Given the description of an element on the screen output the (x, y) to click on. 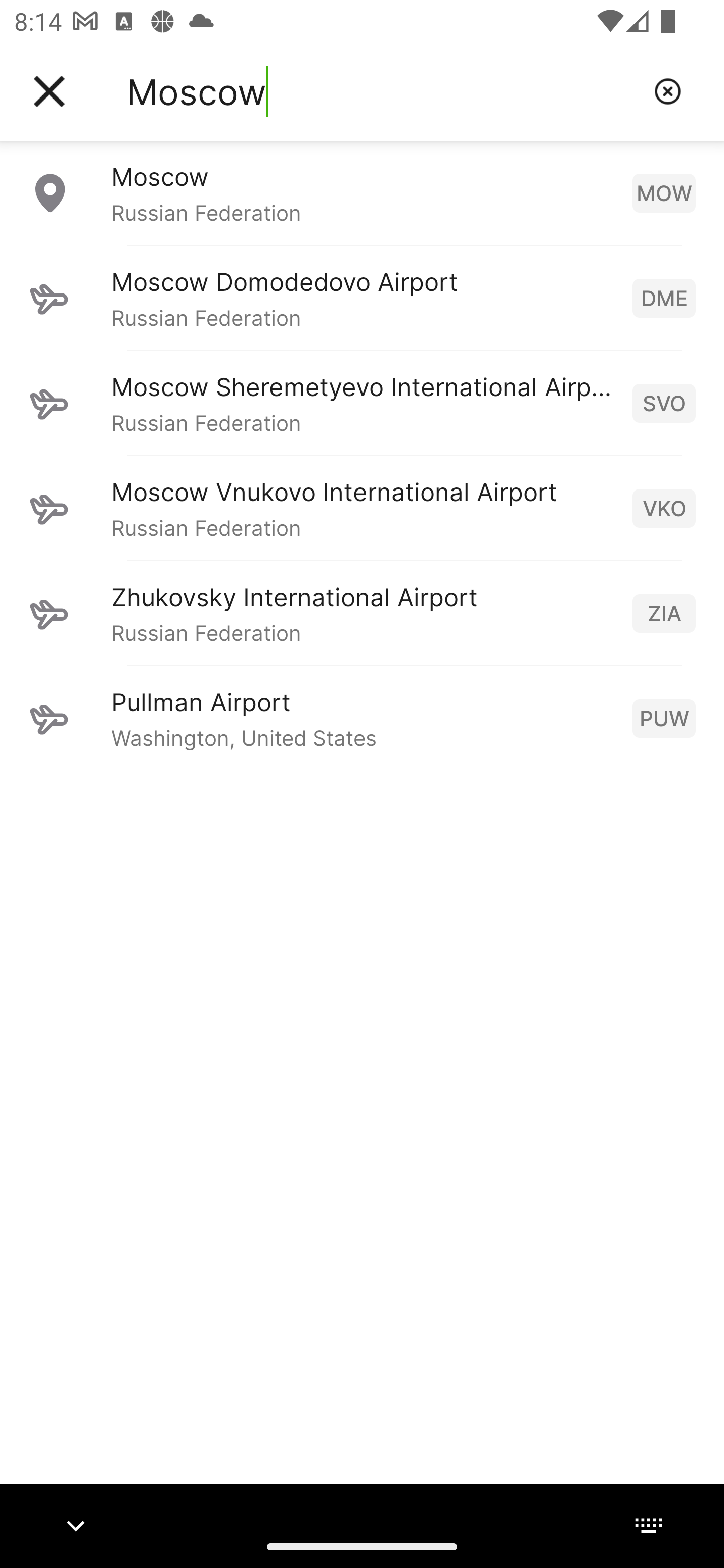
Moscow (382, 91)
Moscow Russian Federation MOW (362, 192)
Moscow Domodedovo Airport Russian Federation DME (362, 297)
Pullman Airport Washington, United States PUW (362, 717)
